Given the description of an element on the screen output the (x, y) to click on. 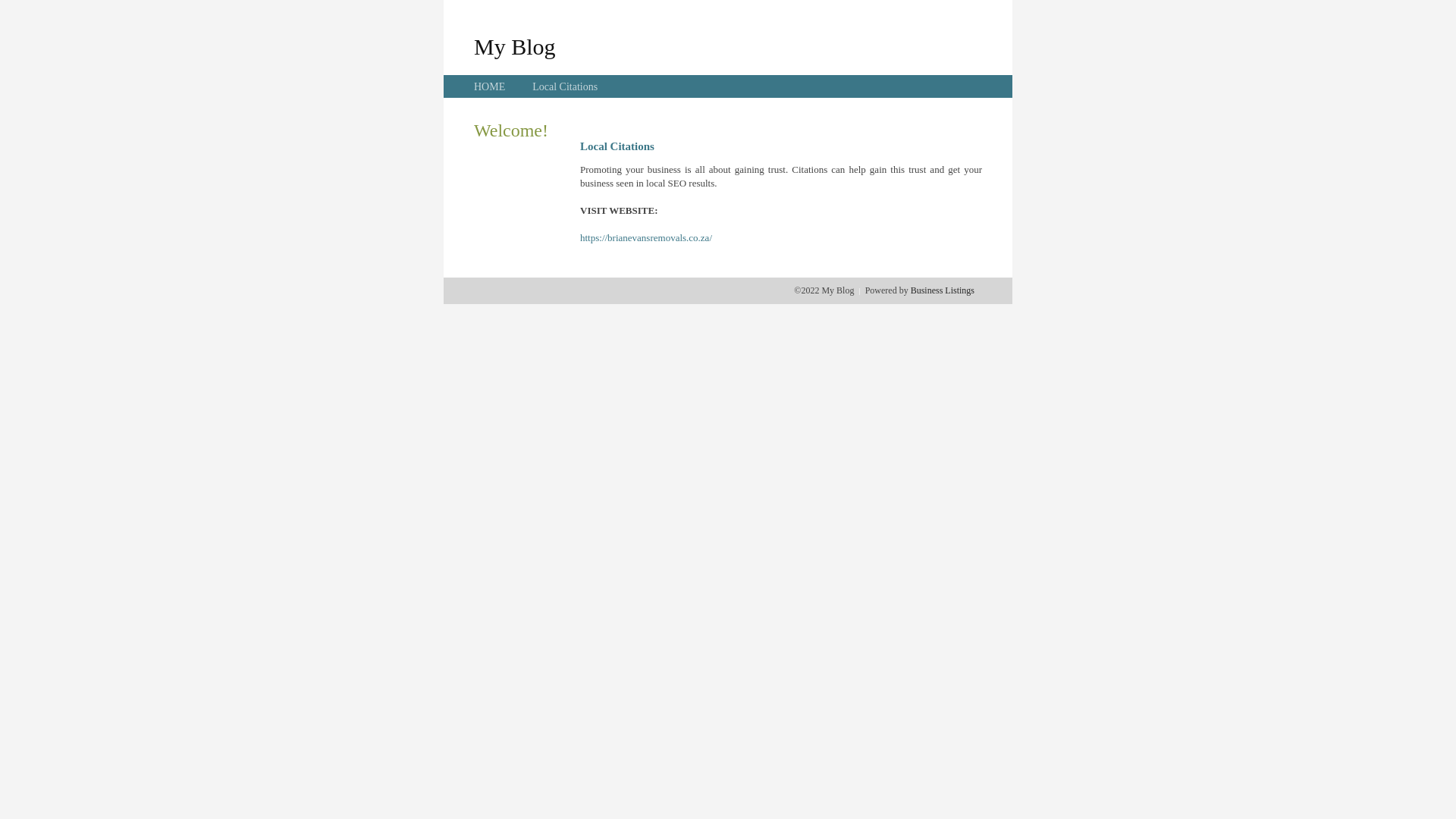
HOME Element type: text (489, 86)
https://brianevansremovals.co.za/ Element type: text (646, 237)
Business Listings Element type: text (942, 290)
Local Citations Element type: text (564, 86)
My Blog Element type: text (514, 46)
